Given the description of an element on the screen output the (x, y) to click on. 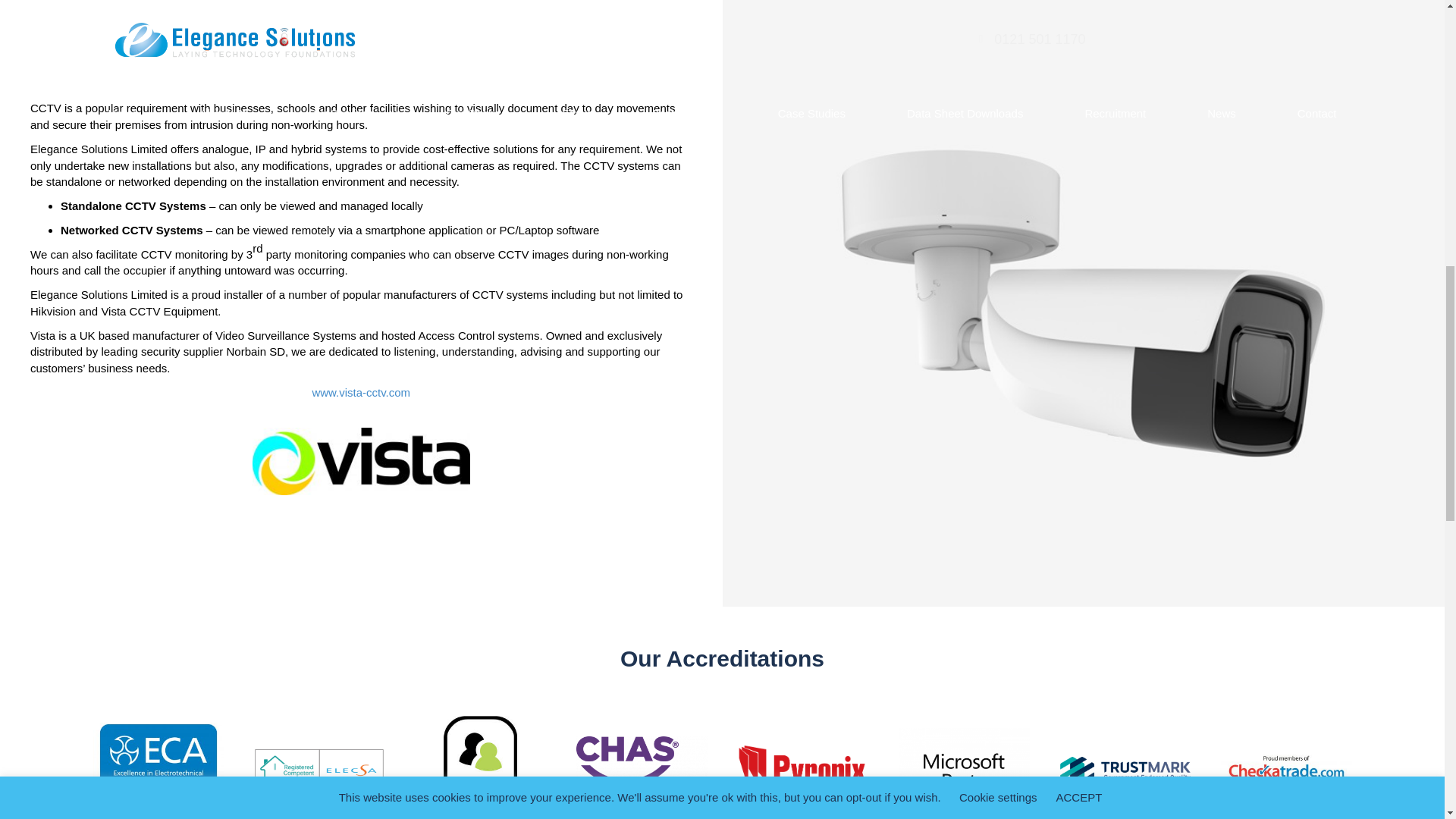
Pyronix Logo (801, 770)
Microsoft Partner Logo (963, 771)
ECA Reg Mem Logo Strap Blue (158, 767)
